Given the description of an element on the screen output the (x, y) to click on. 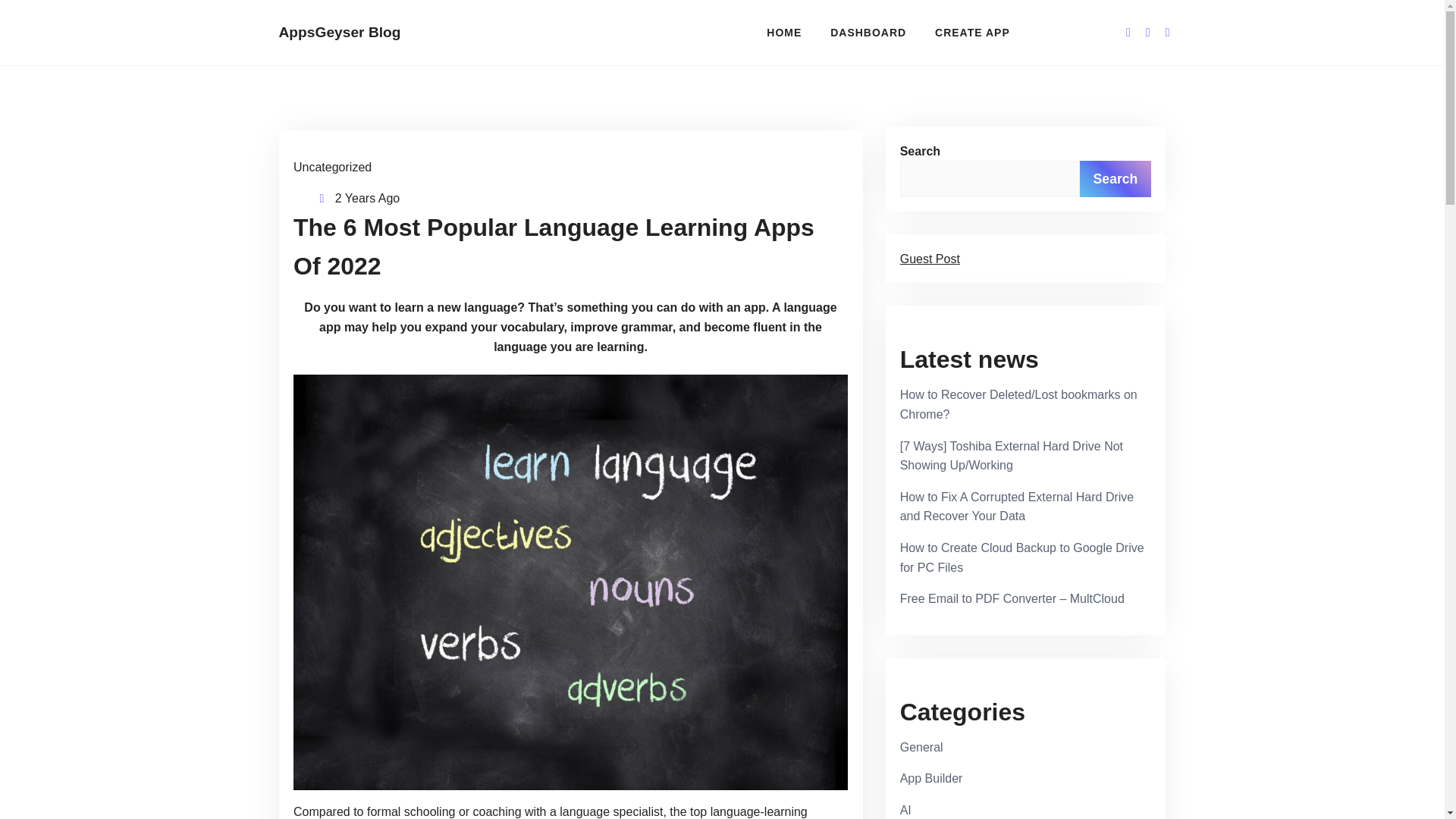
Search (1115, 178)
DASHBOARD (867, 32)
App Builder (930, 778)
2 Years Ago (366, 197)
HOME (783, 32)
Guest Post (929, 258)
AppsGeyser Blog (381, 33)
How to Create Cloud Backup to Google Drive for PC Files (1021, 557)
General (921, 747)
